Given the description of an element on the screen output the (x, y) to click on. 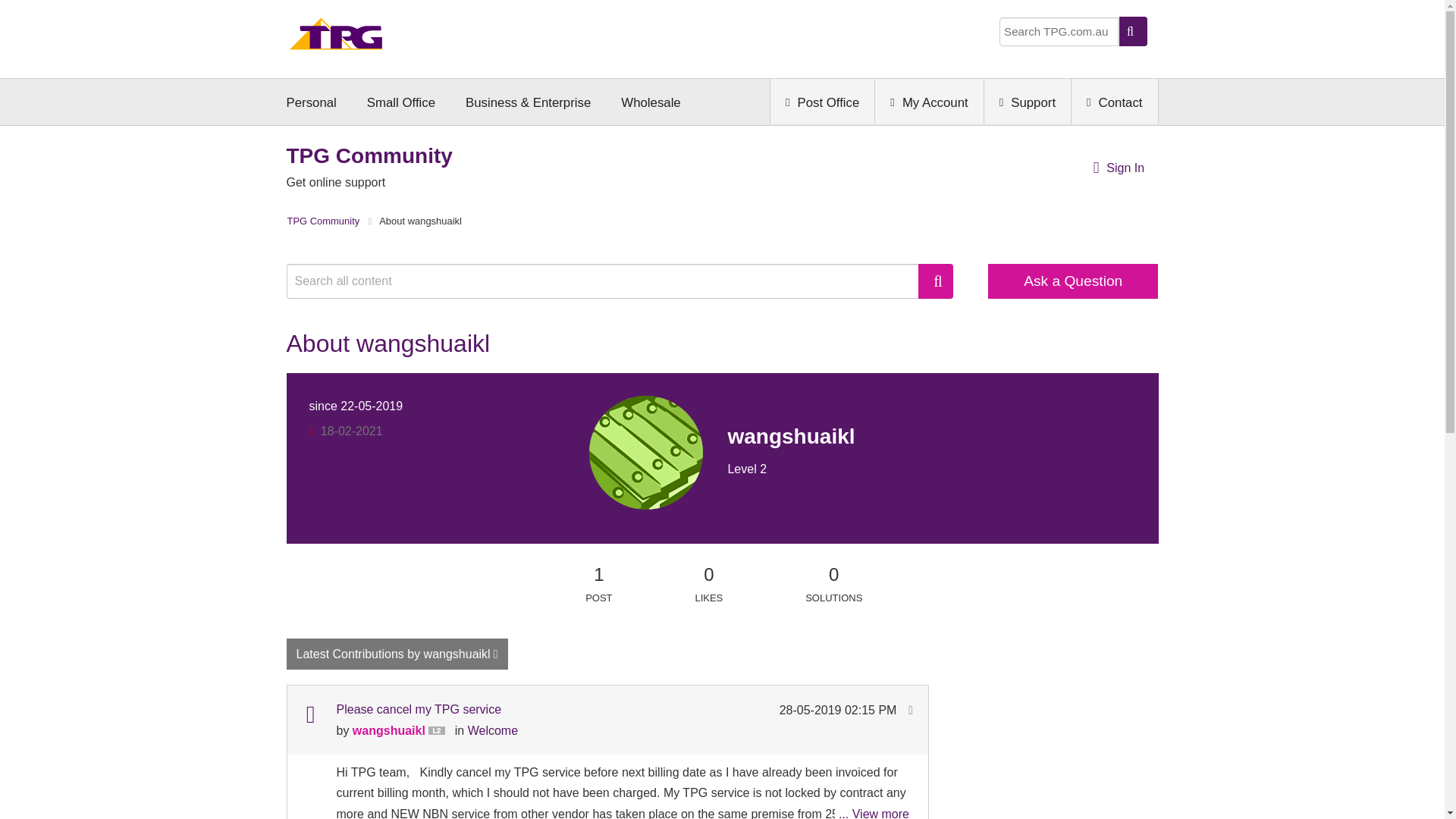
Search (610, 280)
Search (935, 280)
Forum (309, 714)
Home (335, 38)
Level 2 (439, 731)
wangshuaikl (646, 452)
Search (935, 280)
Show option menu (397, 653)
Posted on (838, 710)
